Given the description of an element on the screen output the (x, y) to click on. 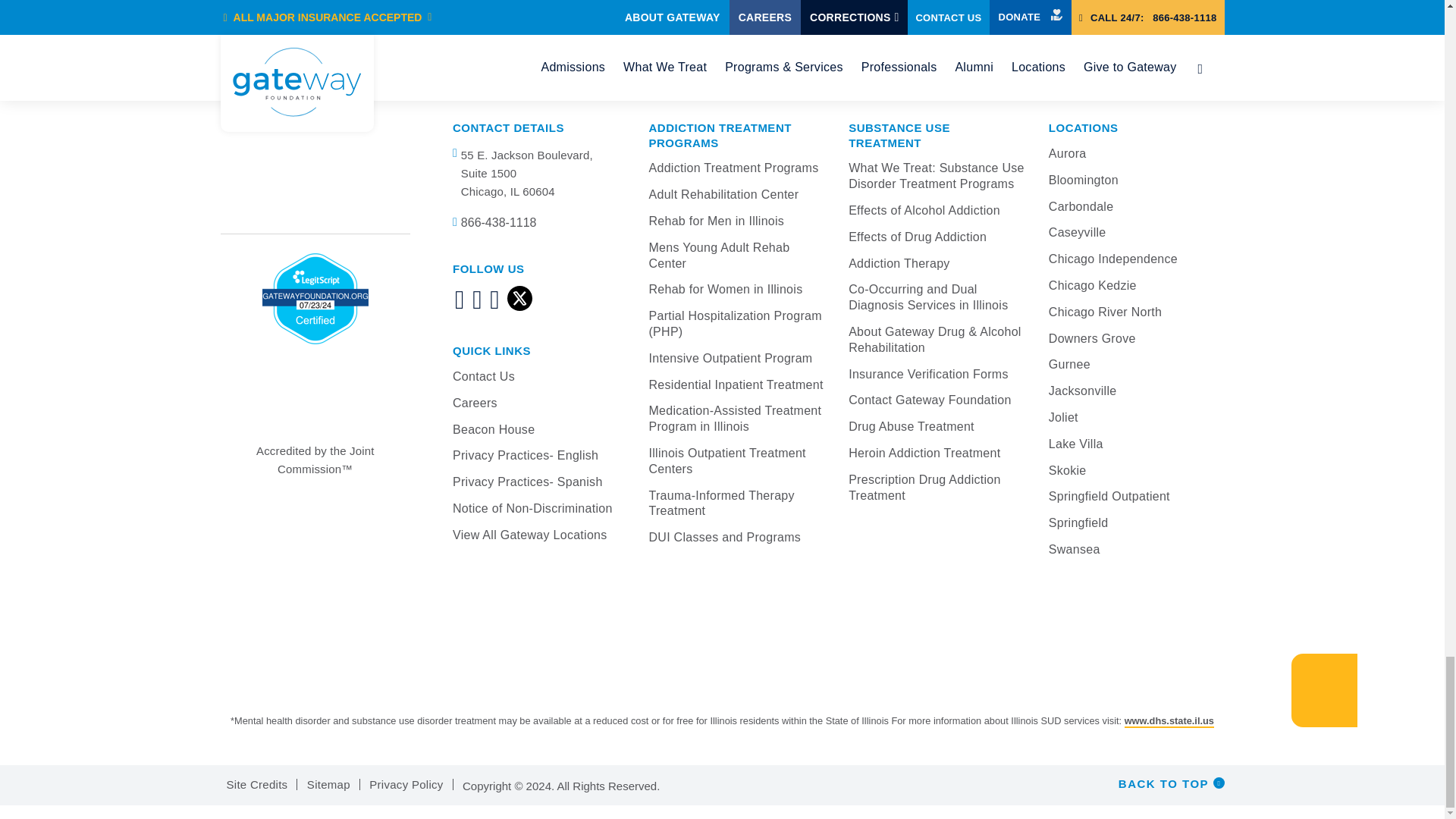
Verify LegitScript Approval (314, 298)
